Given the description of an element on the screen output the (x, y) to click on. 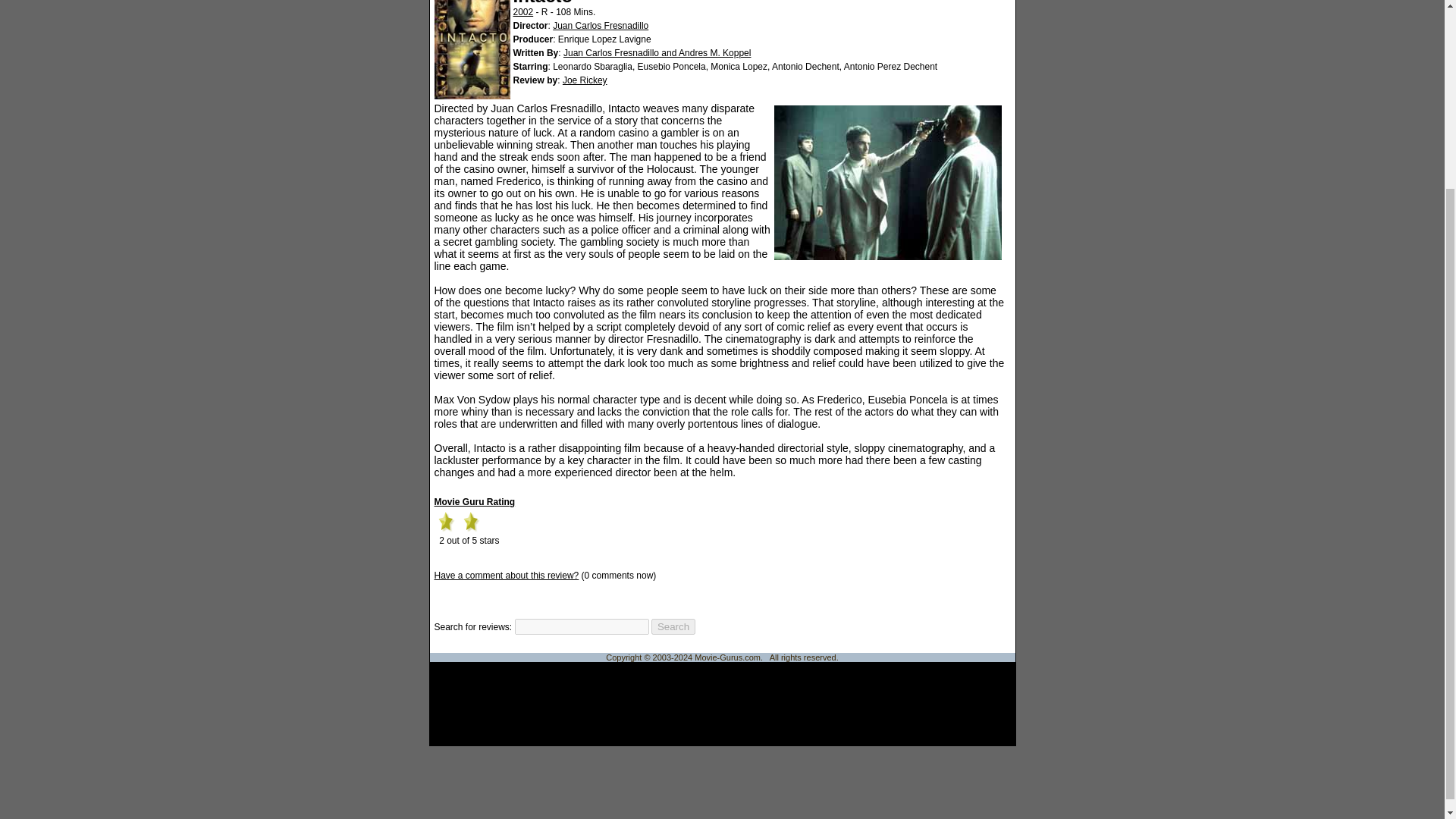
Search (672, 626)
Advertisement (721, 703)
